Given the description of an element on the screen output the (x, y) to click on. 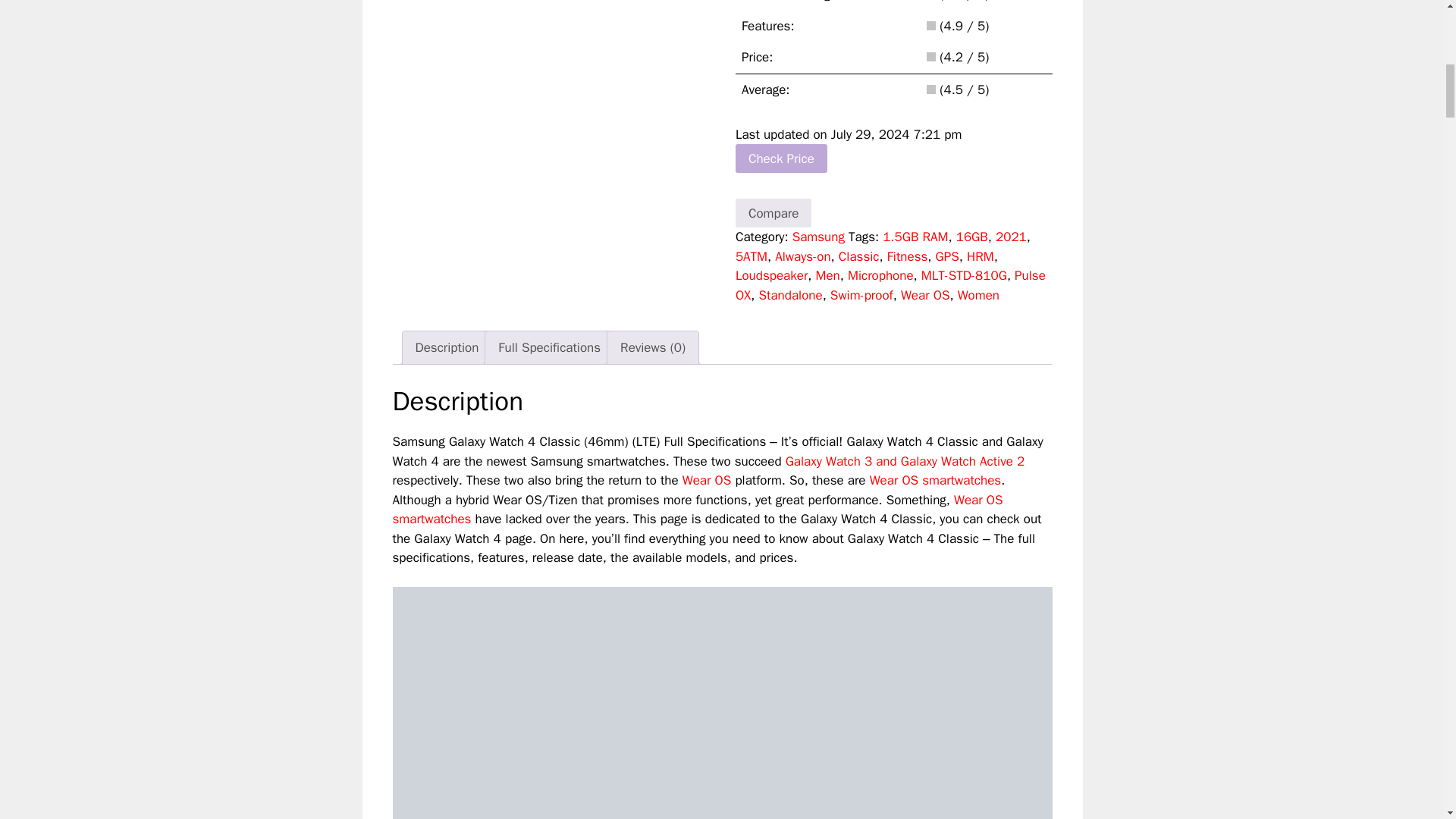
Wear OS (707, 480)
Wear OS (707, 480)
Women (978, 295)
Check Price (781, 158)
Standalone (790, 295)
Men (827, 275)
Wear OS (935, 480)
Galaxy Watch 3 and Galaxy Watch Active 2 (905, 461)
Swim-proof (861, 295)
Loudspeaker (771, 275)
Compare (773, 213)
5ATM (751, 256)
Wear OS (698, 509)
Fitness (907, 256)
1.5GB RAM (914, 236)
